Given the description of an element on the screen output the (x, y) to click on. 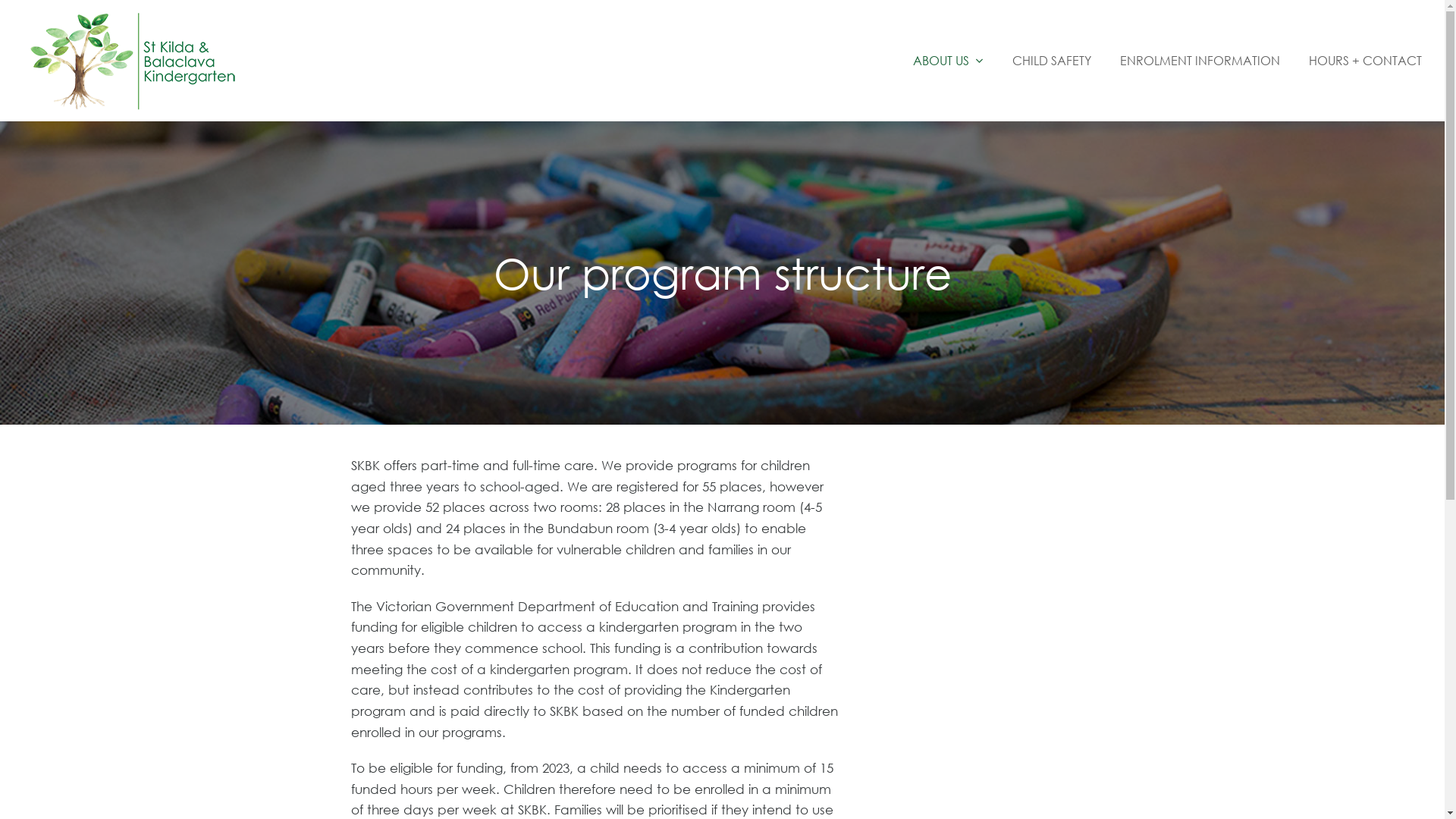
ABOUT US Element type: text (947, 60)
CHILD SAFETY Element type: text (1050, 60)
ENROLMENT INFORMATION Element type: text (1200, 60)
HOURS + CONTACT Element type: text (1364, 60)
